Given the description of an element on the screen output the (x, y) to click on. 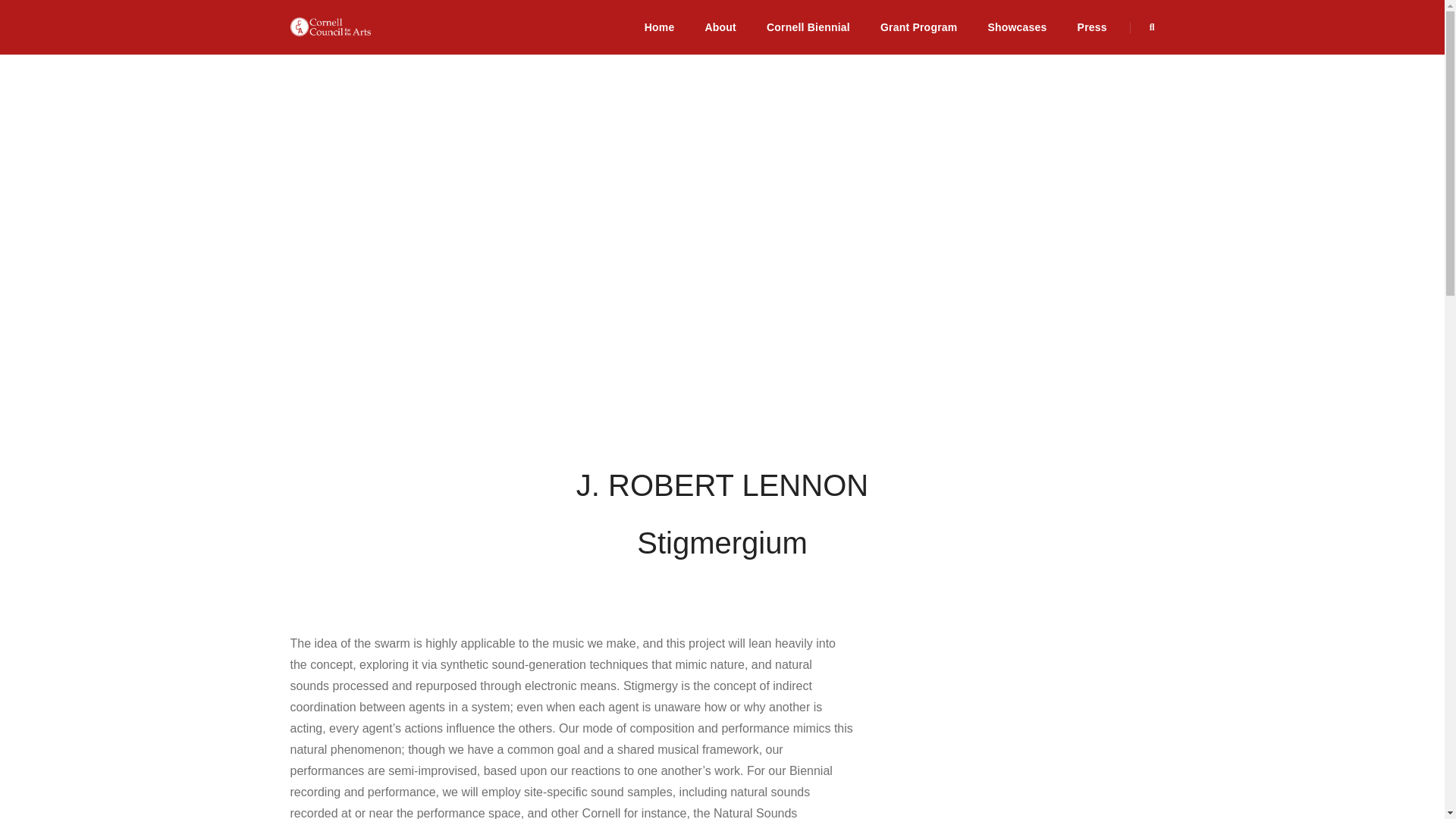
Cornell Biennial (808, 27)
Showcases (1016, 27)
Cornell Council for the Arts (330, 26)
Grant Program (919, 27)
